Given the description of an element on the screen output the (x, y) to click on. 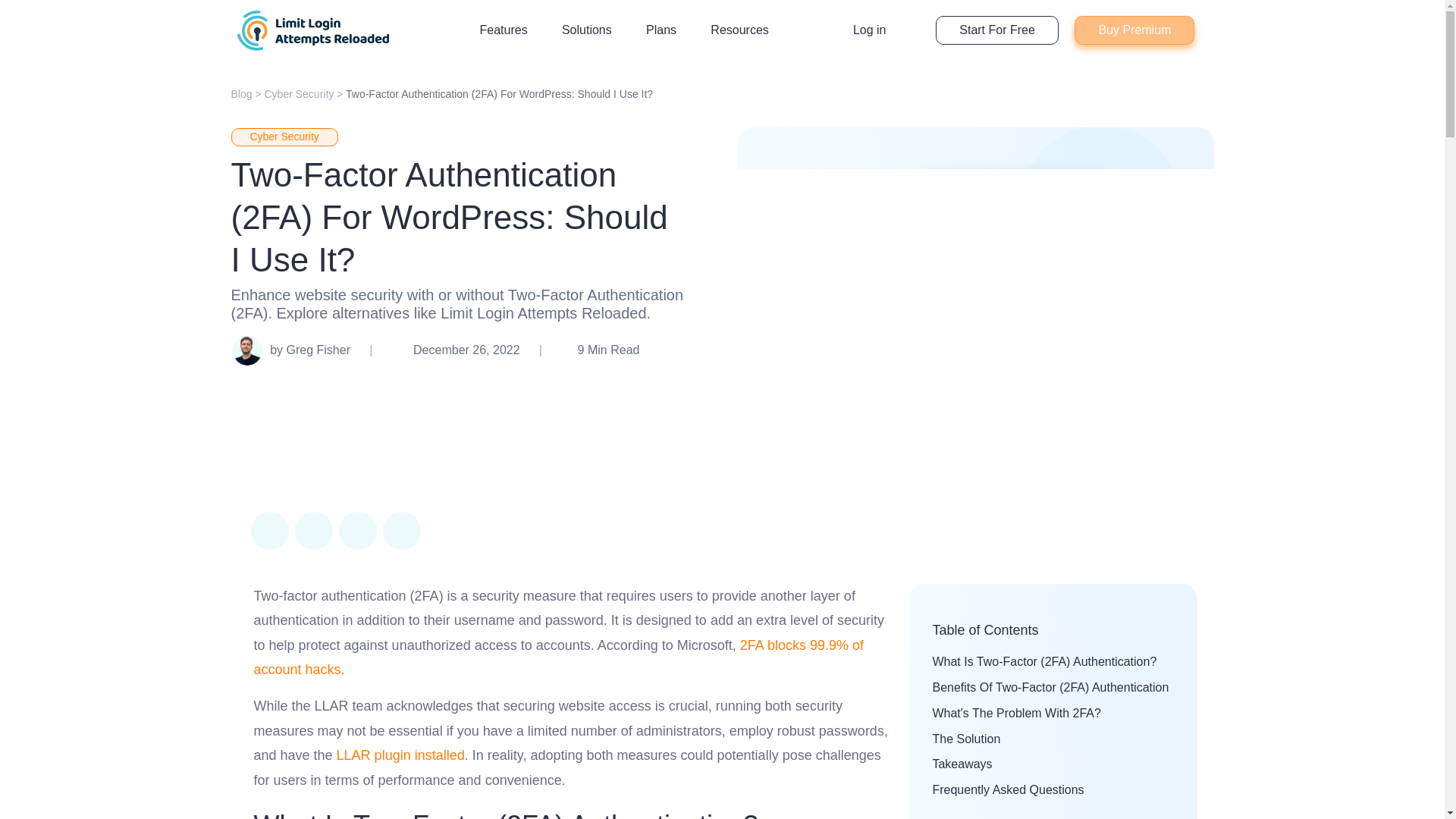
Start For Free (997, 29)
Buy Premium (1133, 29)
Plans (661, 29)
Log in (869, 29)
Start For Free (997, 30)
Buy Premium (1133, 30)
